Given the description of an element on the screen output the (x, y) to click on. 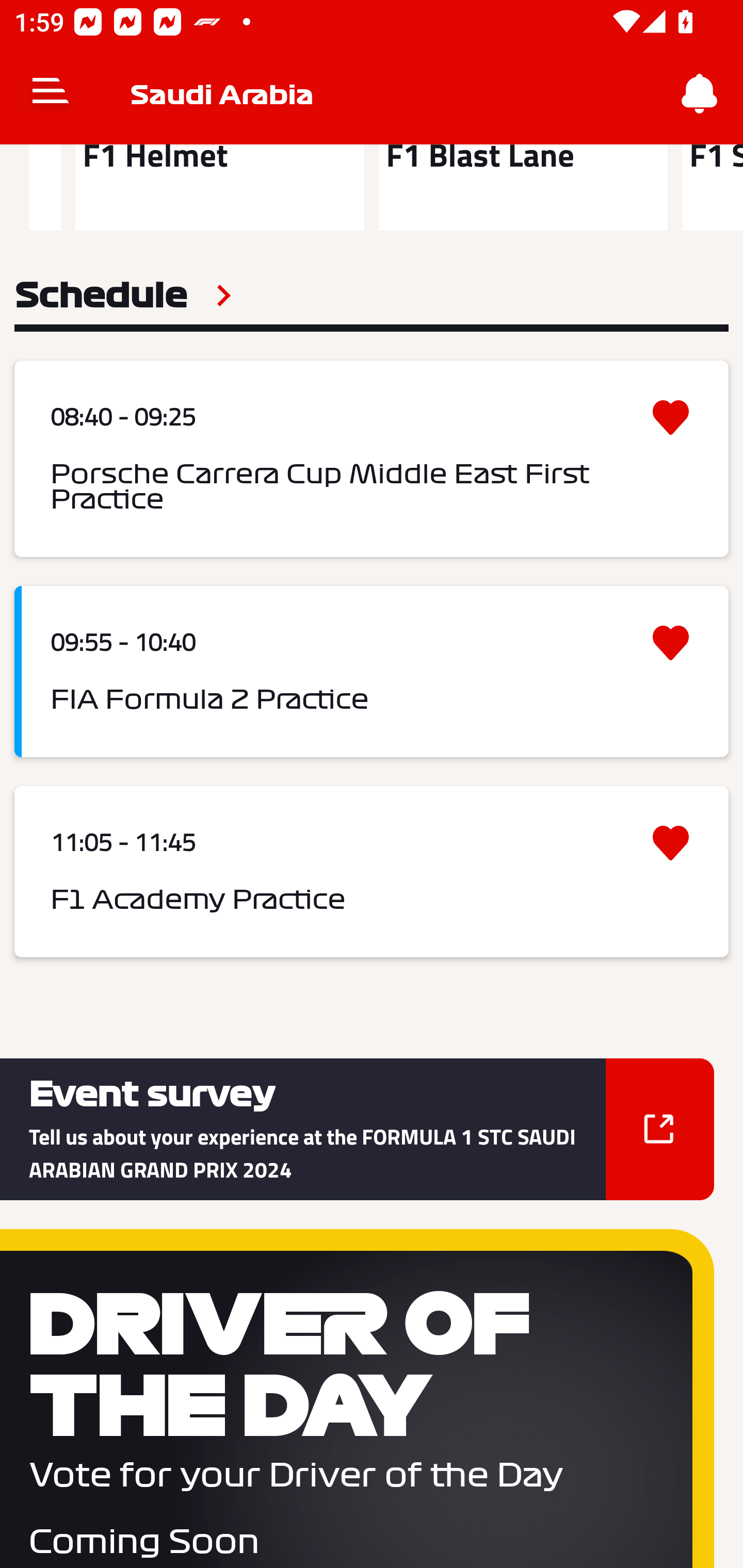
Navigate up (50, 93)
Notifications (699, 93)
F1 Helmet (219, 187)
F1 Blast Lane (522, 187)
Schedule (122, 295)
09:55 - 10:40 FIA Formula 2 Practice (371, 671)
11:05 - 11:45 F1 Academy Practice (371, 871)
